Given the description of an element on the screen output the (x, y) to click on. 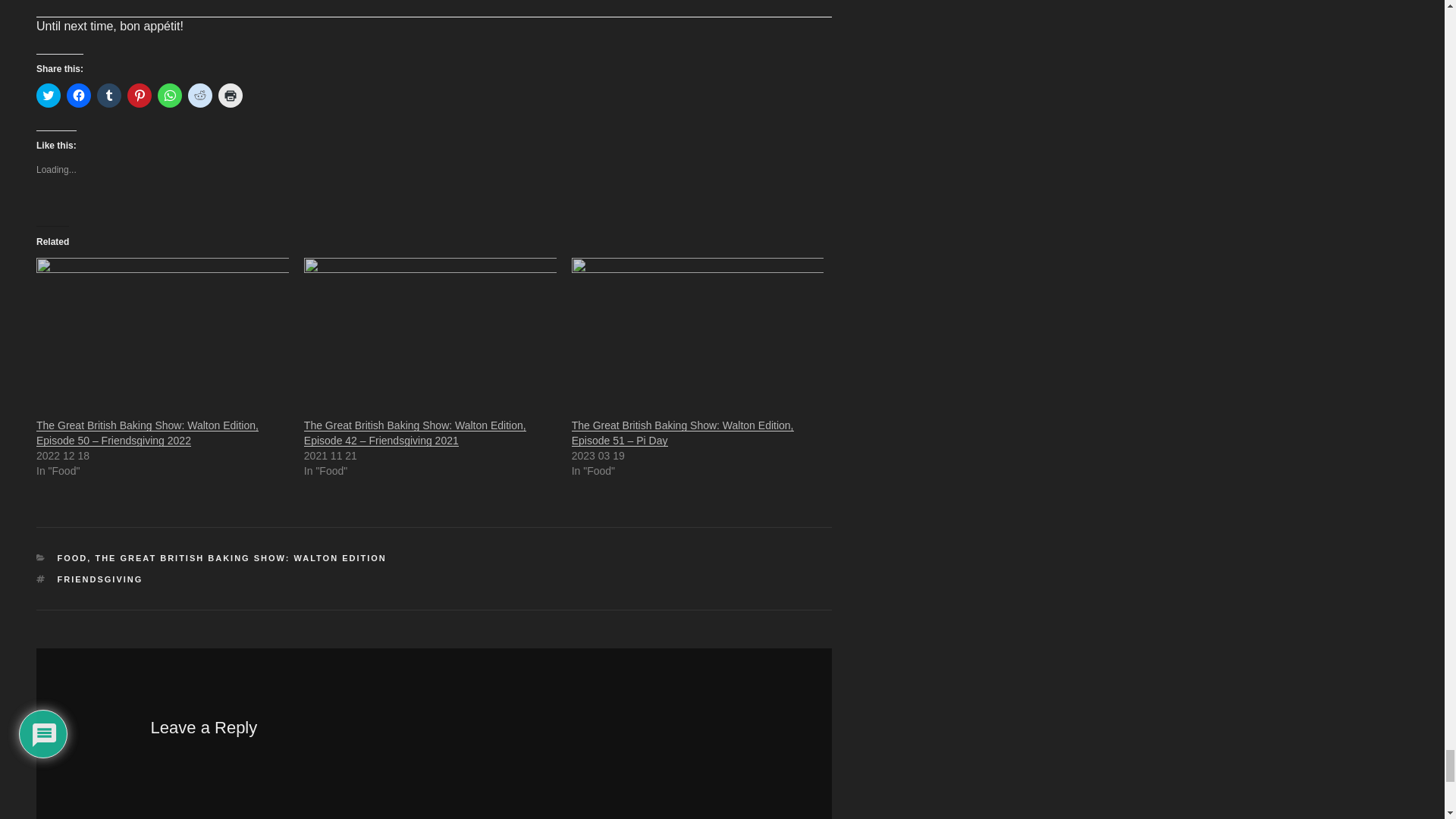
Click to share on Facebook (78, 95)
Click to print (230, 95)
Click to share on Pinterest (139, 95)
Click to share on WhatsApp (169, 95)
Click to share on Tumblr (108, 95)
Click to share on Reddit (199, 95)
Click to share on Twitter (48, 95)
